Given the description of an element on the screen output the (x, y) to click on. 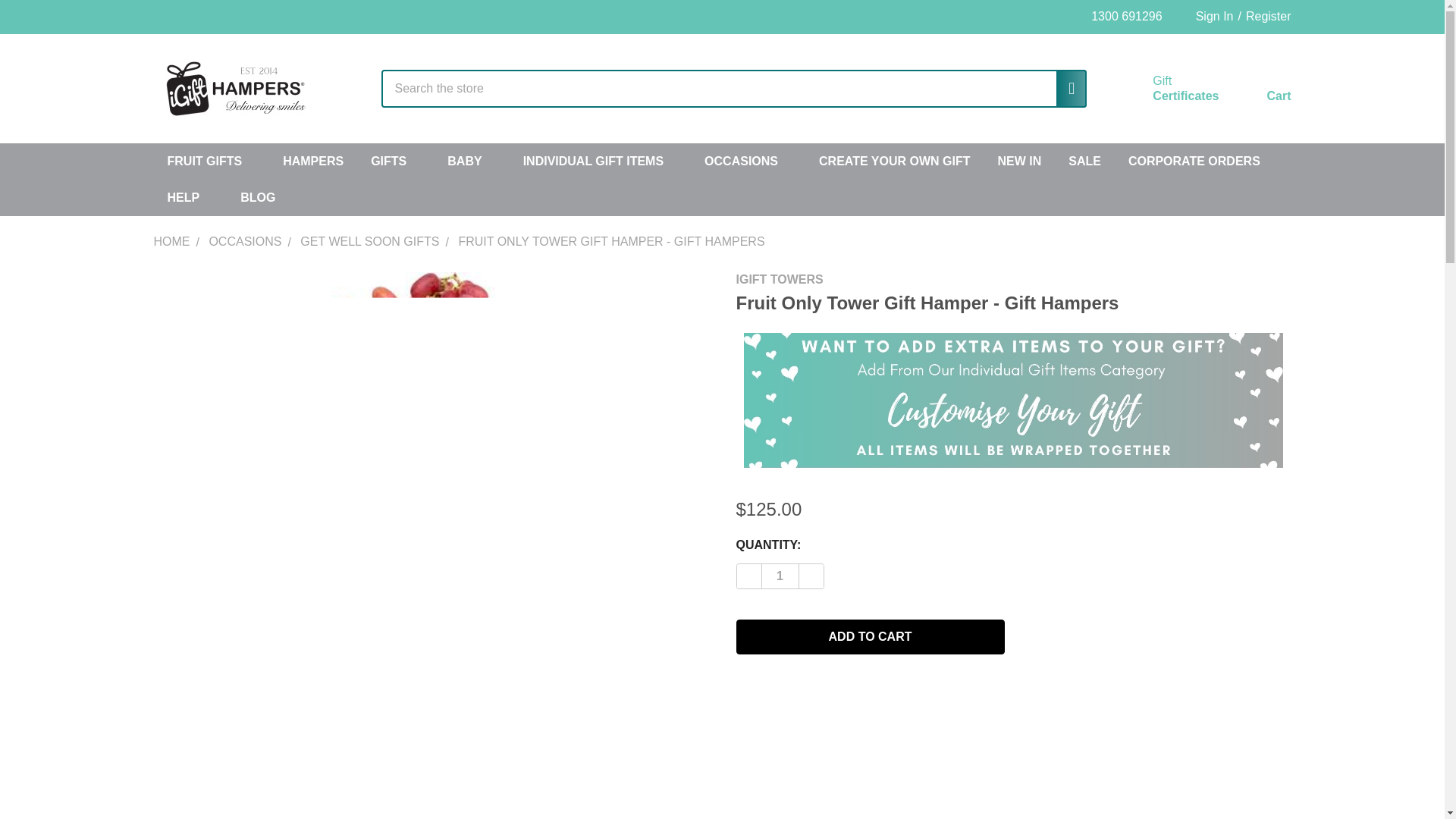
Cart (1260, 92)
Gift Certificates (1167, 88)
GIFTS (394, 161)
1300 691296 (1118, 16)
HAMPERS (312, 161)
Search (1065, 88)
Cart (1260, 92)
FRUIT GIFTS (210, 161)
Add to Cart (1167, 88)
